Given the description of an element on the screen output the (x, y) to click on. 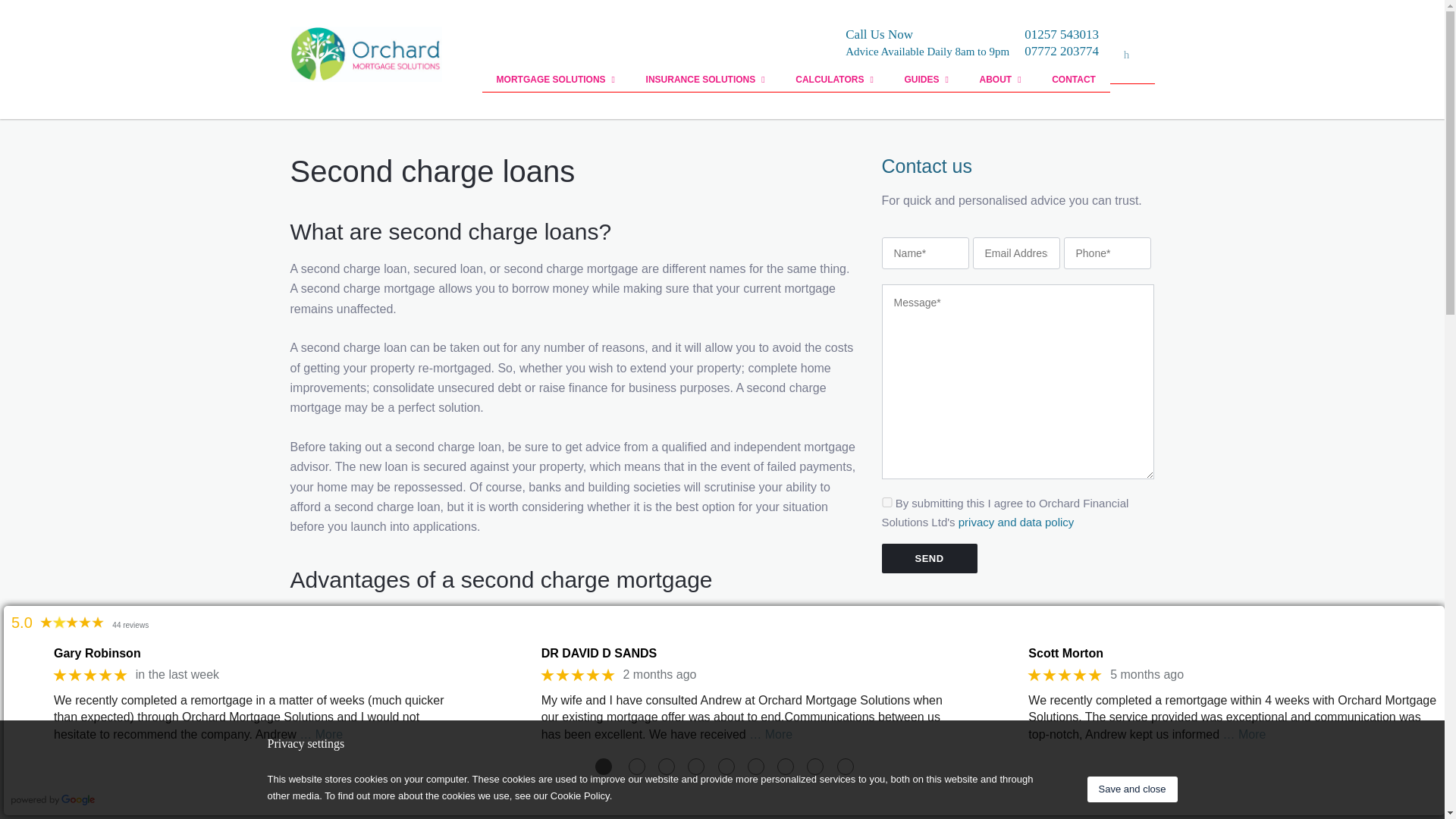
Powered by Google (52, 801)
Orchard Mortgage Solutions (365, 53)
Send (928, 558)
